Given the description of an element on the screen output the (x, y) to click on. 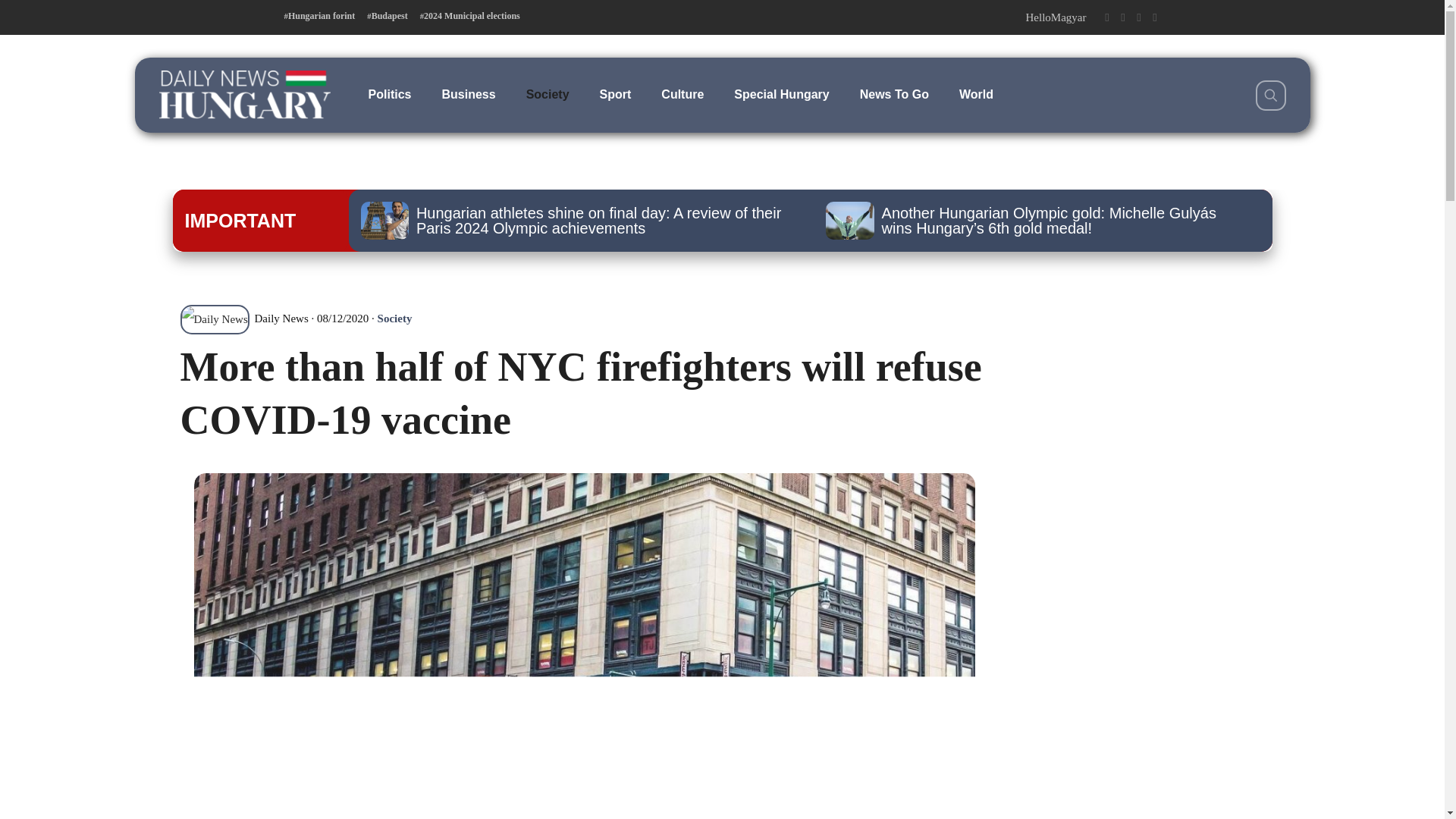
Politics (389, 94)
Special Hungary (781, 94)
HelloMagyar (1055, 17)
Business (468, 94)
Instagram (1138, 17)
RSS (1155, 17)
Daily News (244, 318)
2024 Municipal elections (469, 15)
Society (394, 318)
